Given the description of an element on the screen output the (x, y) to click on. 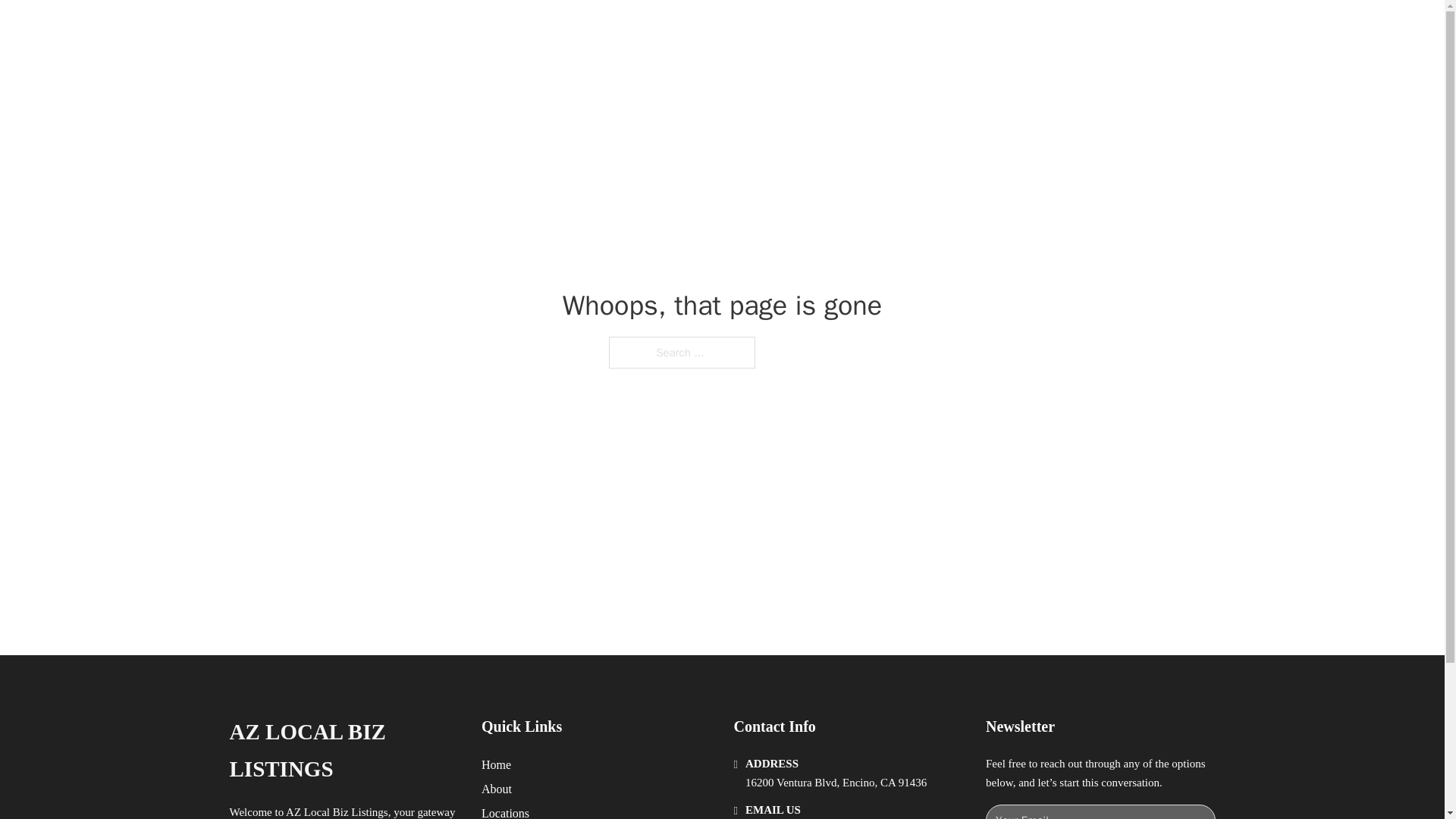
AZ LOCAL BIZ LISTINGS (343, 750)
Home (496, 764)
AZ LOCAL BIZ LISTINGS (425, 28)
LOCATIONS (990, 29)
HOME (919, 29)
About (496, 788)
Locations (505, 811)
